Given the description of an element on the screen output the (x, y) to click on. 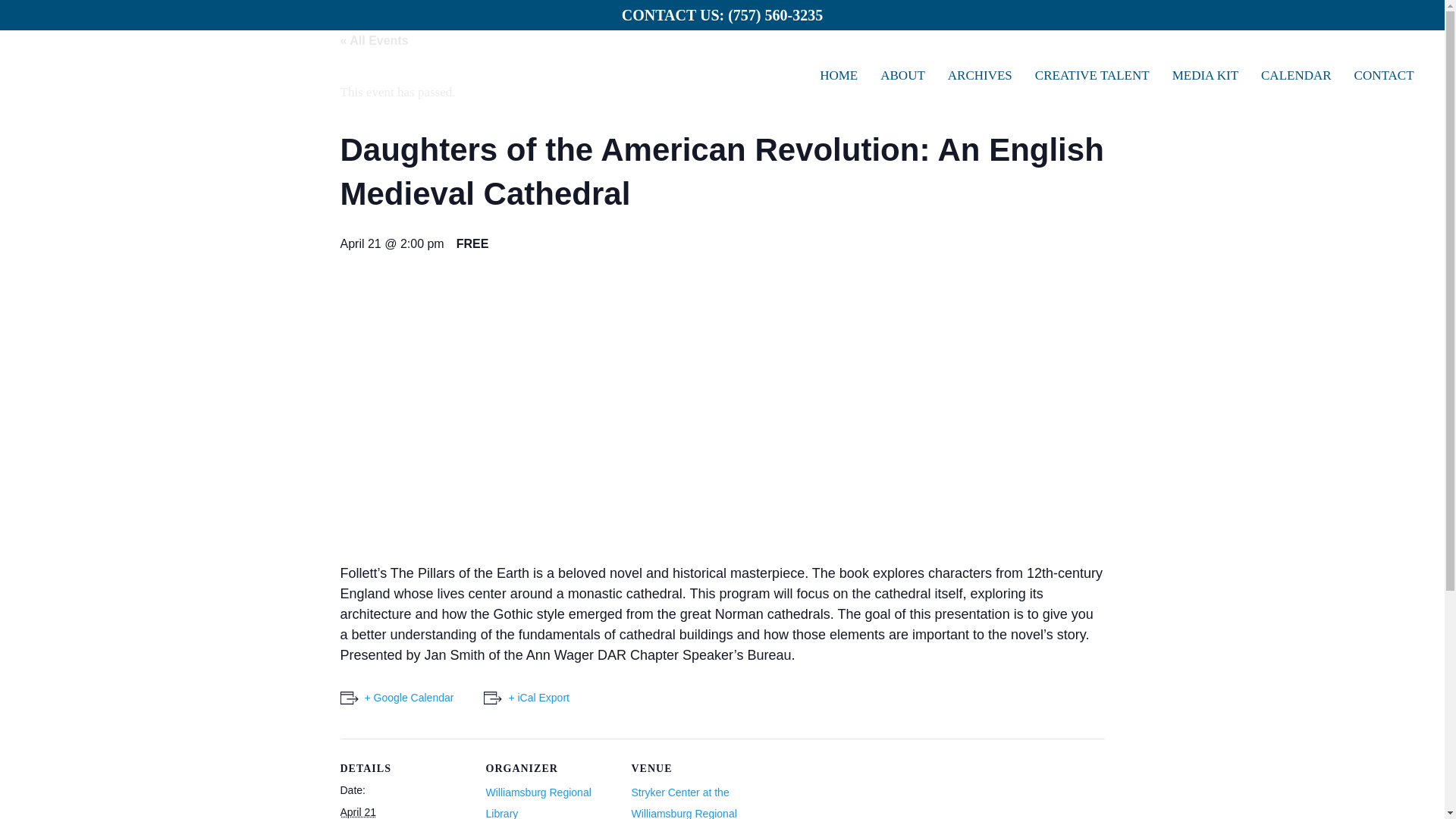
Williamsburg Regional Library (537, 802)
MEDIA KIT (1204, 75)
CREATIVE TALENT (1091, 75)
Add to Google Calendar (395, 697)
2024-04-21 (357, 811)
Stryker Center at the Williamsburg Regional Library (683, 802)
Sitemap (1066, 808)
CALENDAR (1295, 75)
Download .ics file (526, 697)
Williamsburg Regional Library (537, 802)
